Given the description of an element on the screen output the (x, y) to click on. 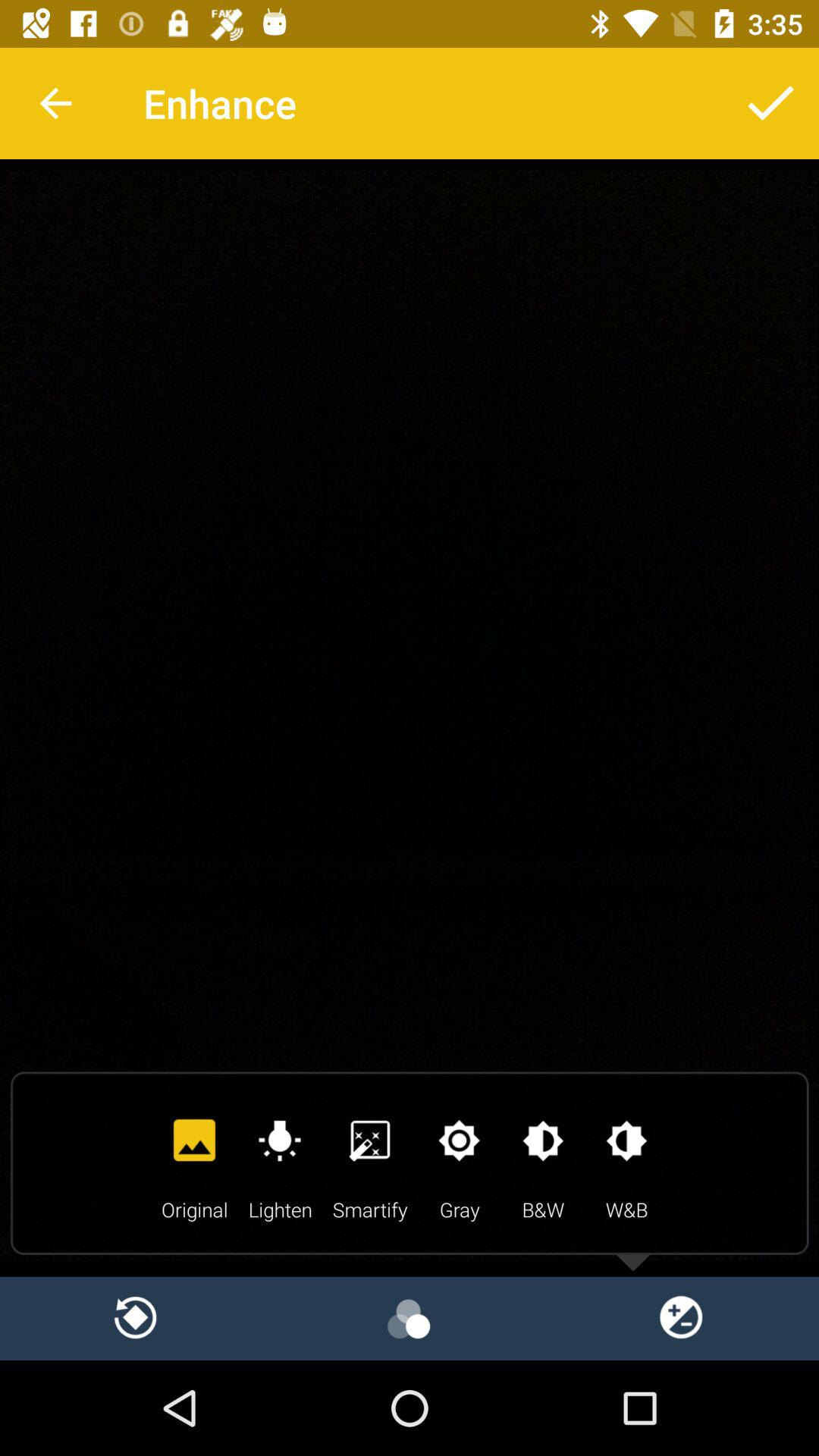
go to play (409, 1318)
